Given the description of an element on the screen output the (x, y) to click on. 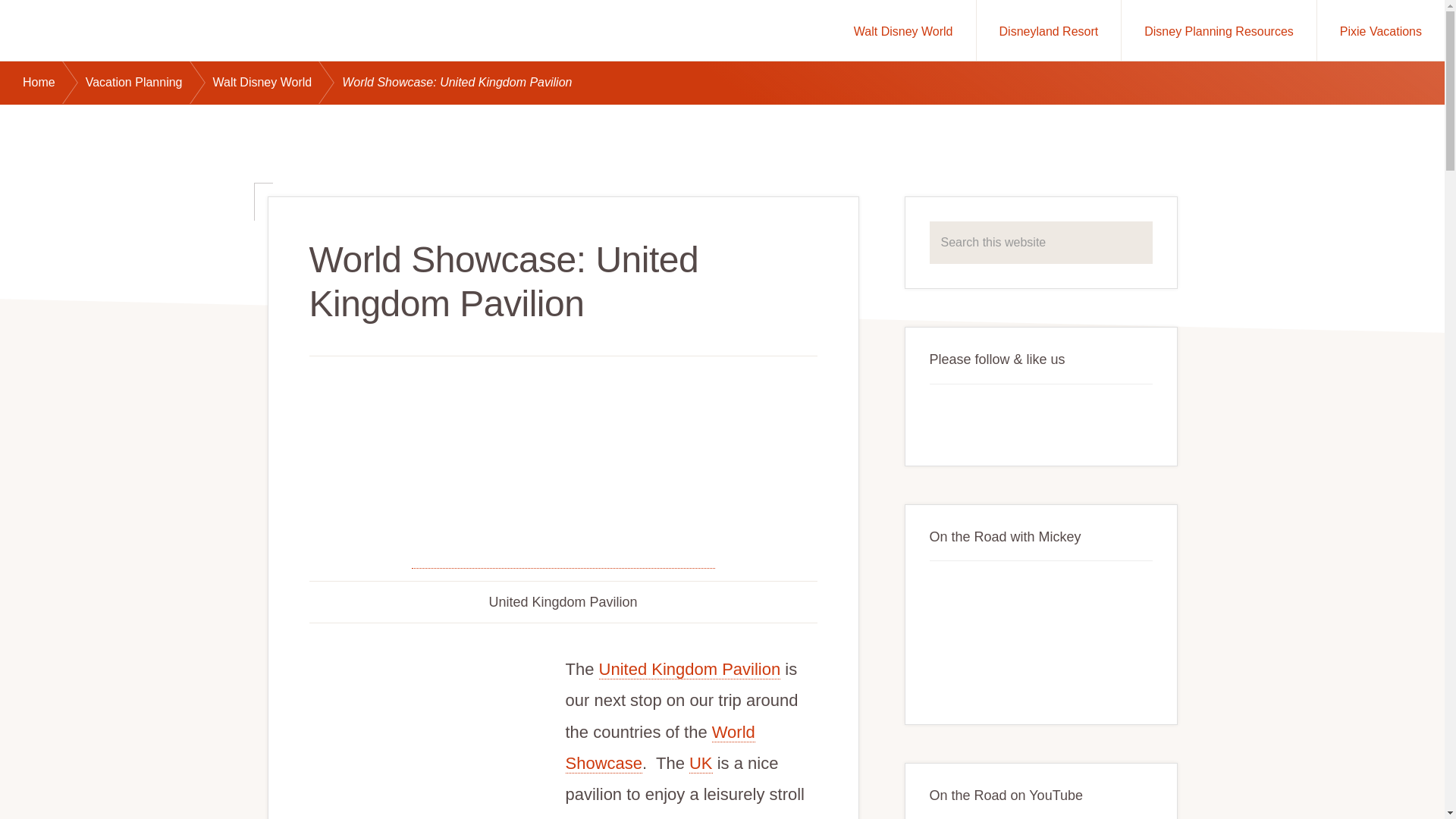
United Kingdom (700, 763)
Facebook (947, 417)
Epcot (660, 747)
Walt Disney World (903, 30)
Close and accept (1372, 788)
Disneyland Resort (1048, 30)
